Given the description of an element on the screen output the (x, y) to click on. 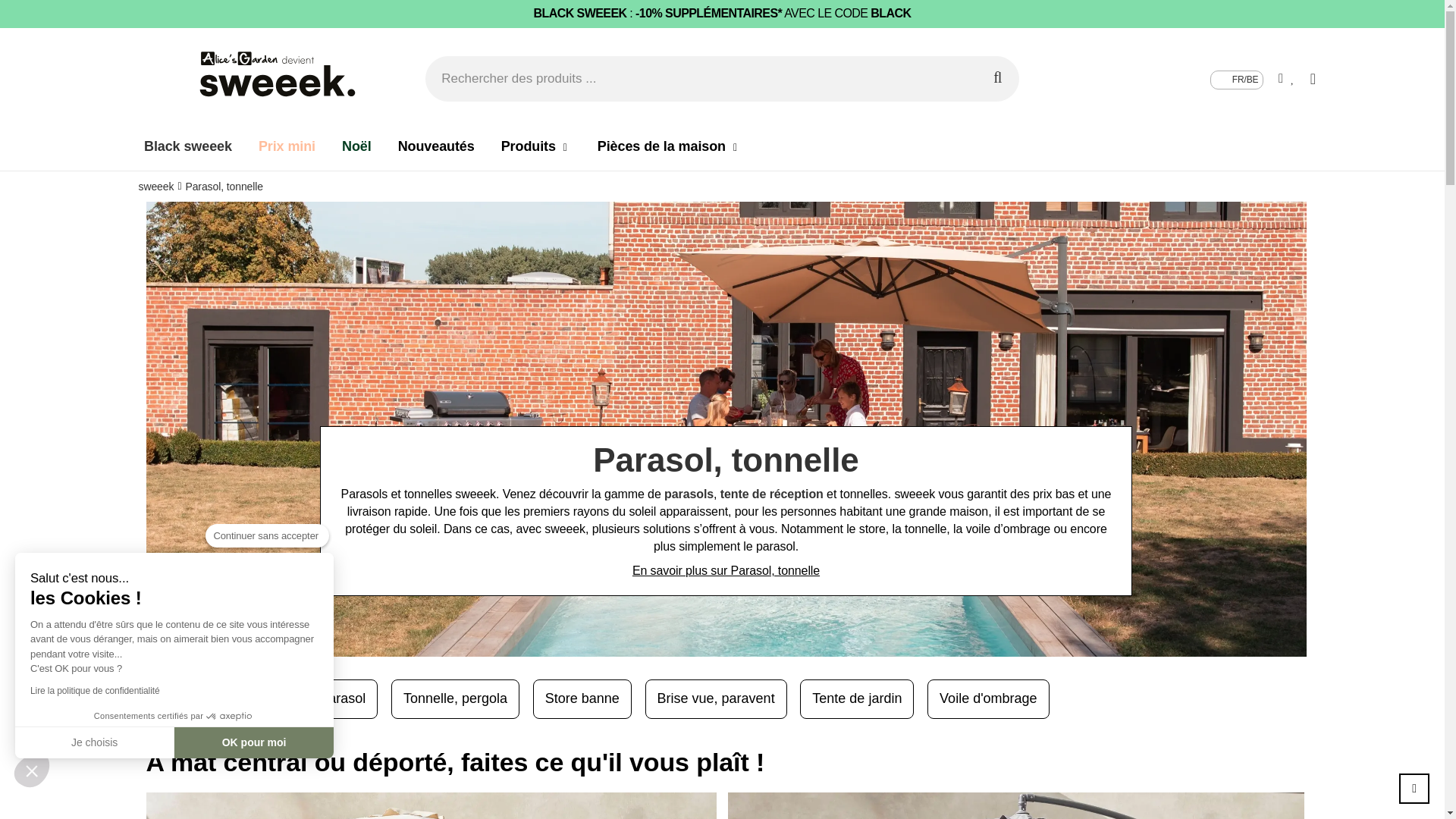
Store banne Element type: text (589, 700)
En savoir plus sur Parasol, tonnelle Element type: text (725, 571)
Brise vue, paravent Element type: text (722, 700)
Brise vue, paravent Element type: text (716, 699)
Parasol Element type: text (187, 700)
parasols Element type: text (688, 493)
Tonnelle, pergola Element type: text (462, 700)
Store banne Element type: text (581, 699)
Tente de jardin Element type: text (863, 700)
Voile d'ombrage Element type: text (993, 700)
Accessoires Parasol Element type: text (310, 700)
Black sweeek Element type: text (188, 145)
Accessoires Parasol Element type: text (303, 699)
Parasol, tonnelle Element type: text (224, 186)
Fermer le widget sans consentement Element type: hover (31, 770)
Je choisis Element type: text (94, 742)
Voile d'ombrage Element type: text (988, 699)
Tonnelle, pergola Element type: text (455, 699)
sweeek Element type: text (155, 186)
OK pour moi Element type: text (253, 742)
Tente de jardin Element type: text (856, 699)
Parasol Element type: text (181, 699)
